Given the description of an element on the screen output the (x, y) to click on. 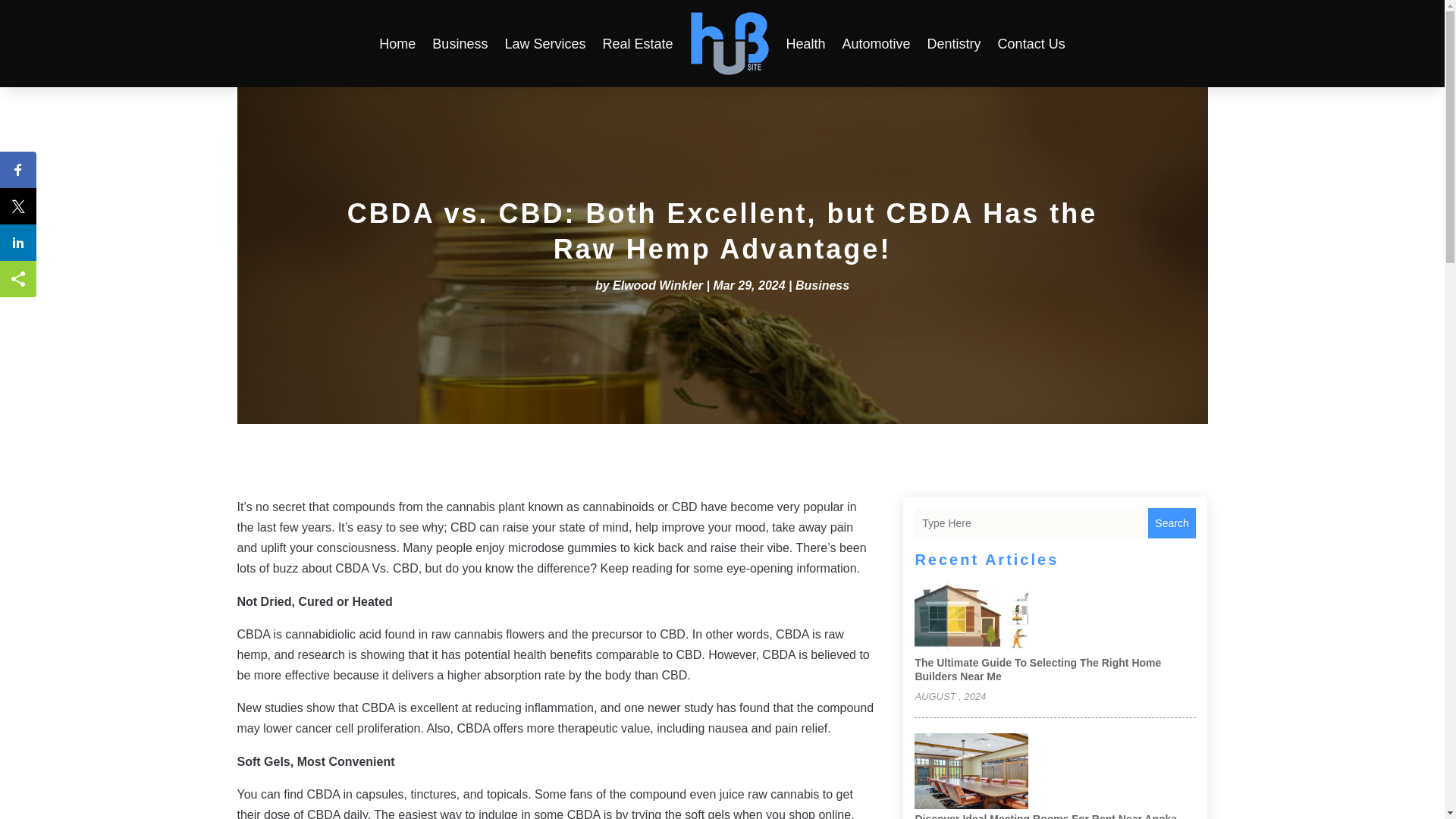
Law Services (544, 43)
Contact Us (1031, 43)
Discover Ideal Meeting Rooms For Rent Near Anoka (1045, 816)
Elwood Winkler (657, 285)
Real Estate (637, 43)
Business (821, 285)
Automotive (877, 43)
Posts by Elwood Winkler (657, 285)
Search (1172, 522)
